Given the description of an element on the screen output the (x, y) to click on. 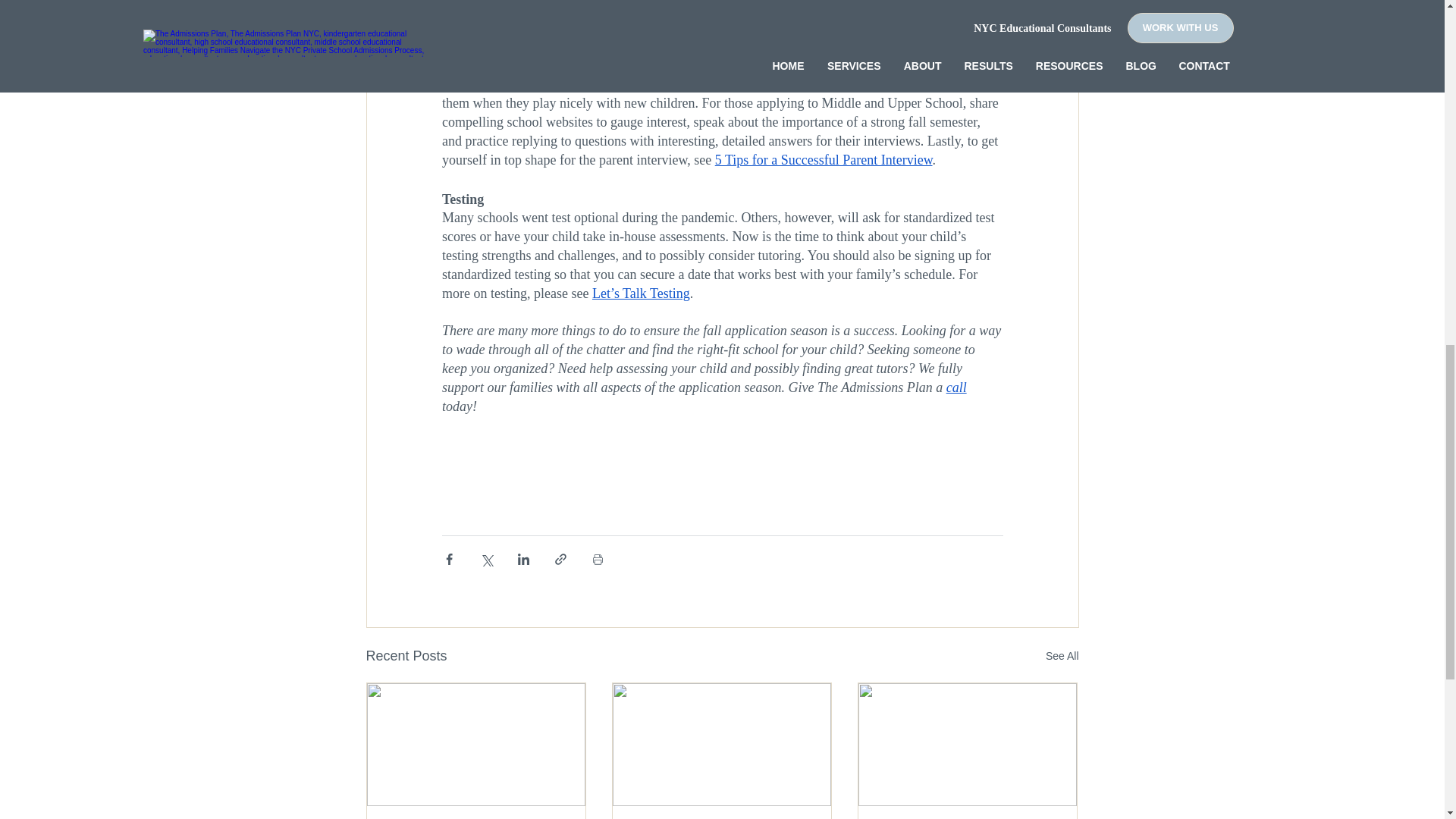
5 Tips for a Successful Parent Interview (822, 159)
See All (1061, 656)
call (955, 386)
